Given the description of an element on the screen output the (x, y) to click on. 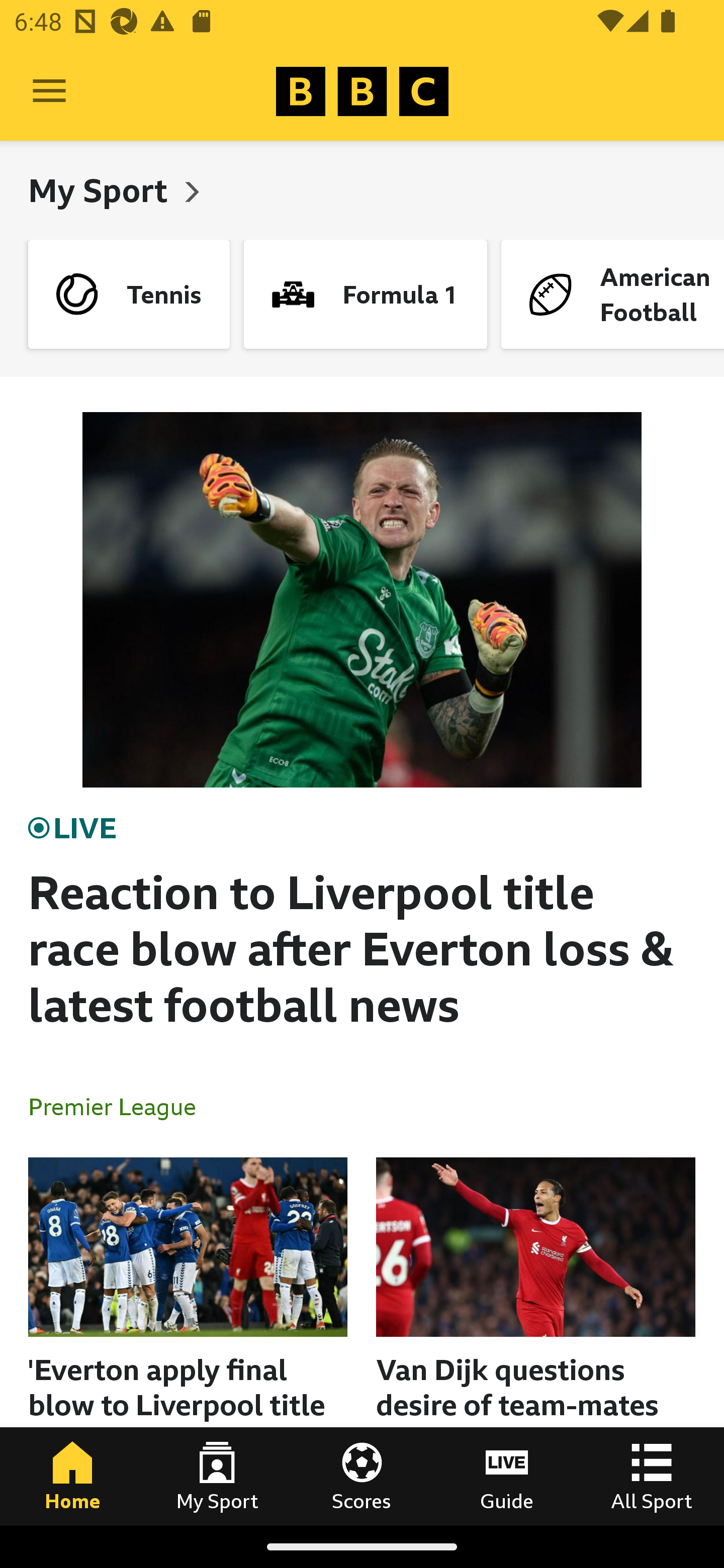
Open Menu (49, 91)
My Sport (101, 190)
Premier League In the section Premier League (119, 1106)
My Sport (216, 1475)
Scores (361, 1475)
Guide (506, 1475)
All Sport (651, 1475)
